Given the description of an element on the screen output the (x, y) to click on. 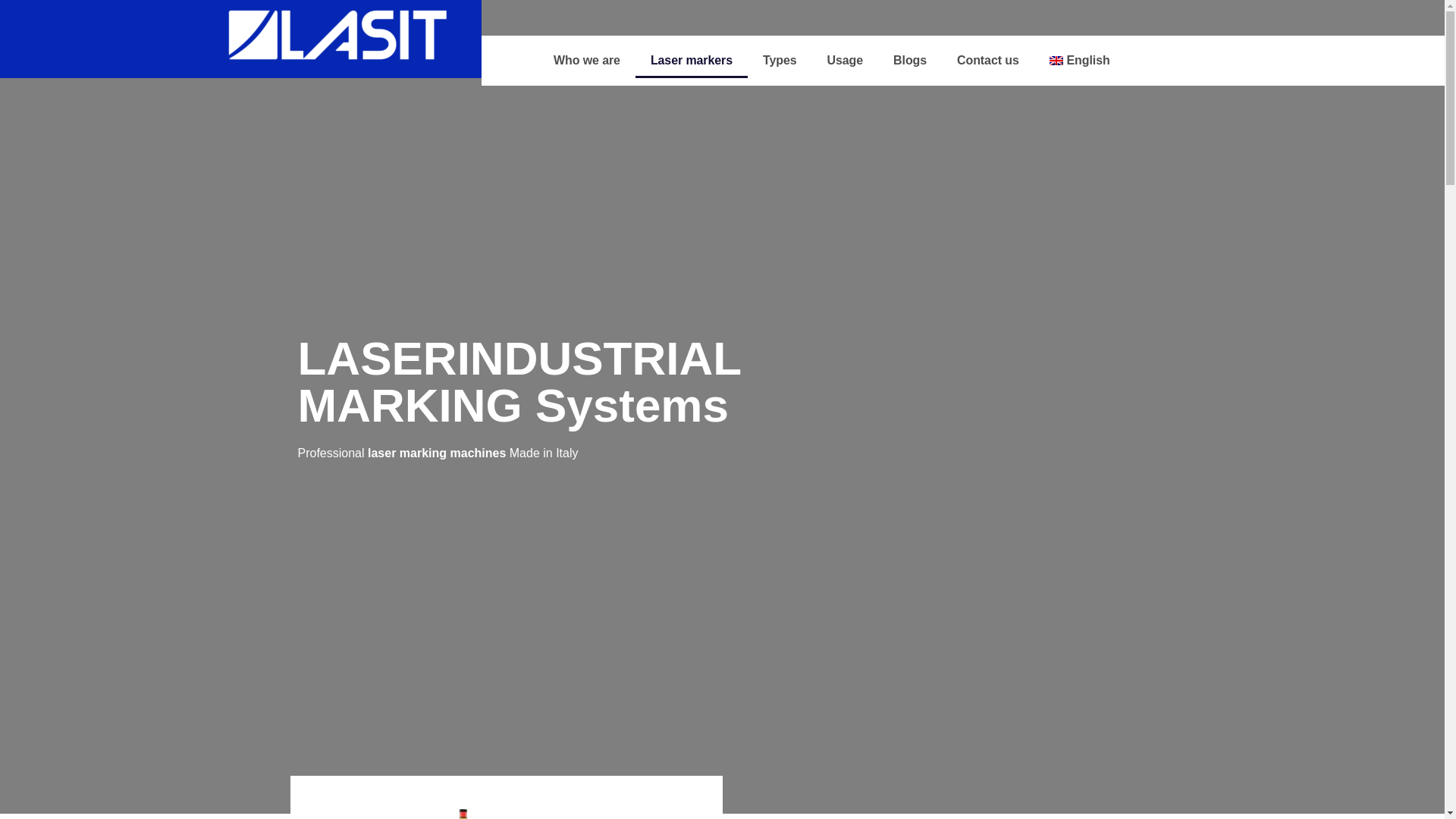
Blogs (909, 60)
Who we are (586, 60)
Usage (845, 60)
Types (780, 60)
Laser markers (691, 60)
Contact us (987, 60)
English (1079, 60)
English (1079, 60)
